Given the description of an element on the screen output the (x, y) to click on. 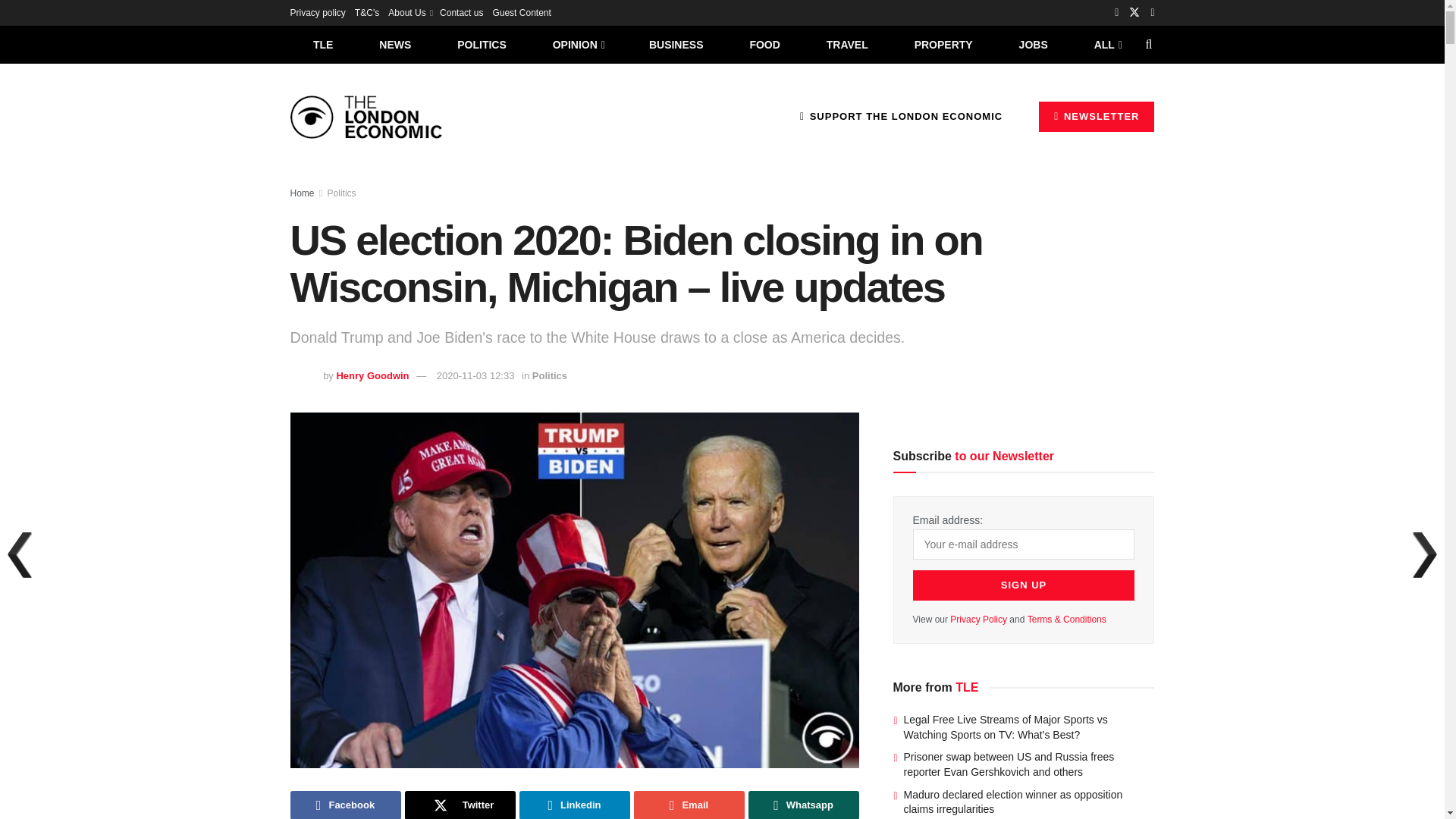
Privacy policy (317, 12)
ALL (1106, 44)
Home (301, 193)
NEWSLETTER (1096, 116)
Contact us (461, 12)
PROPERTY (943, 44)
SUPPORT THE LONDON ECONOMIC (900, 116)
Sign up (1023, 585)
FOOD (764, 44)
Guest Content (521, 12)
JOBS (1032, 44)
About Us (409, 12)
BUSINESS (676, 44)
NEWS (394, 44)
TRAVEL (847, 44)
